Given the description of an element on the screen output the (x, y) to click on. 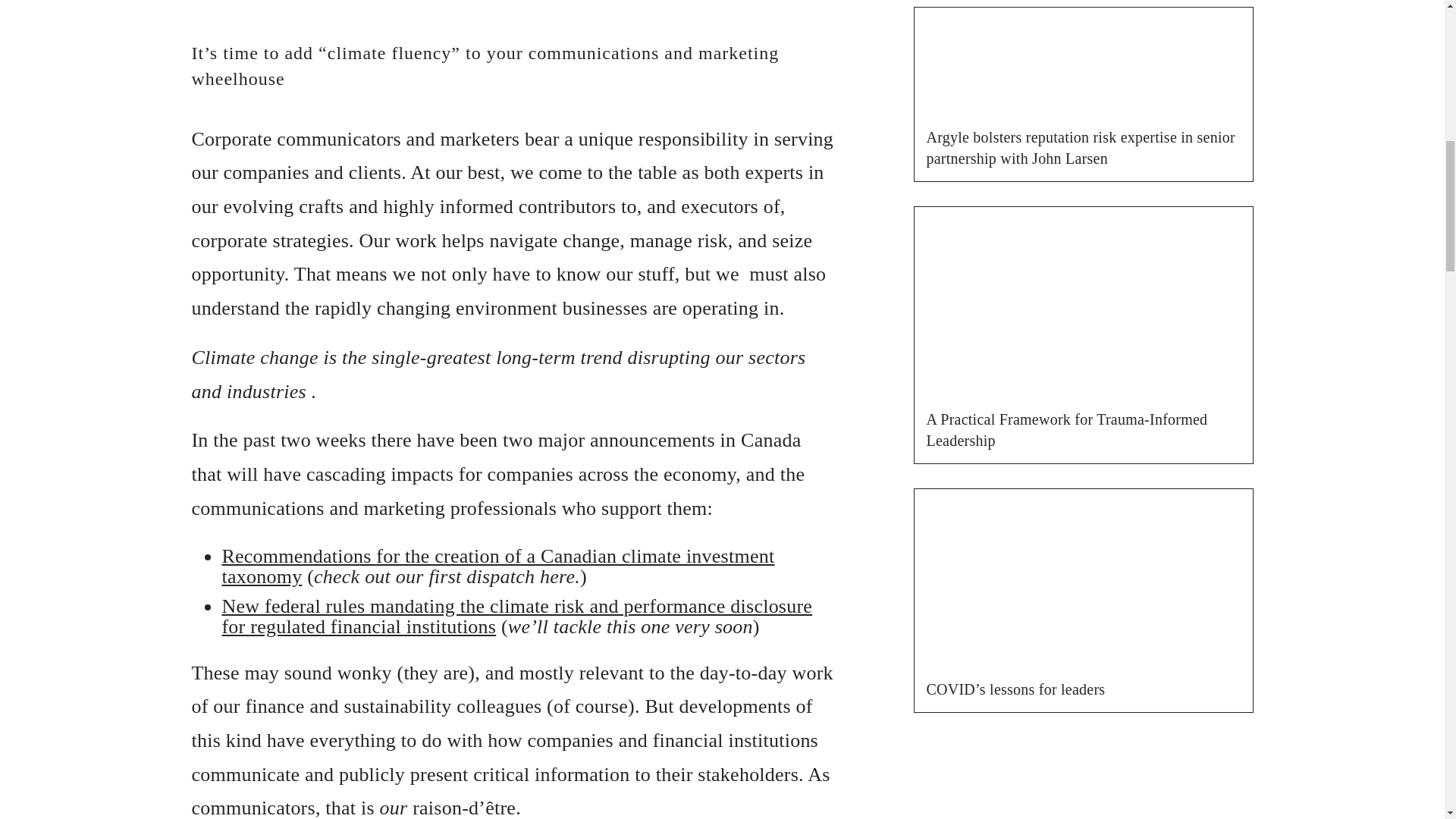
A Practical Framework for Trauma-Informed Leadership (1067, 429)
